Given the description of an element on the screen output the (x, y) to click on. 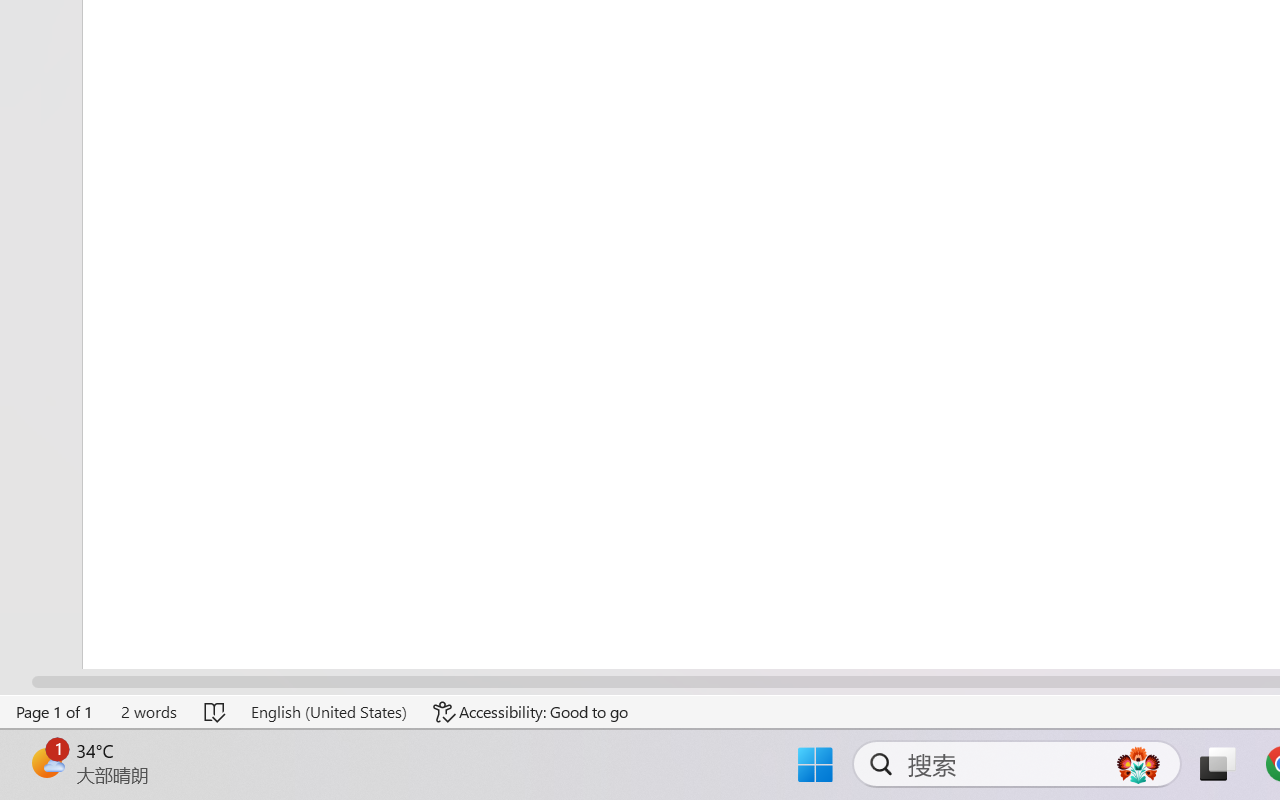
AutomationID: BadgeAnchorLargeTicker (46, 762)
Accessibility Checker Accessibility: Good to go (531, 712)
Page Number Page 1 of 1 (55, 712)
Language English (United States) (328, 712)
AutomationID: DynamicSearchBoxGleamImage (1138, 764)
Spelling and Grammar Check No Errors (216, 712)
